Given the description of an element on the screen output the (x, y) to click on. 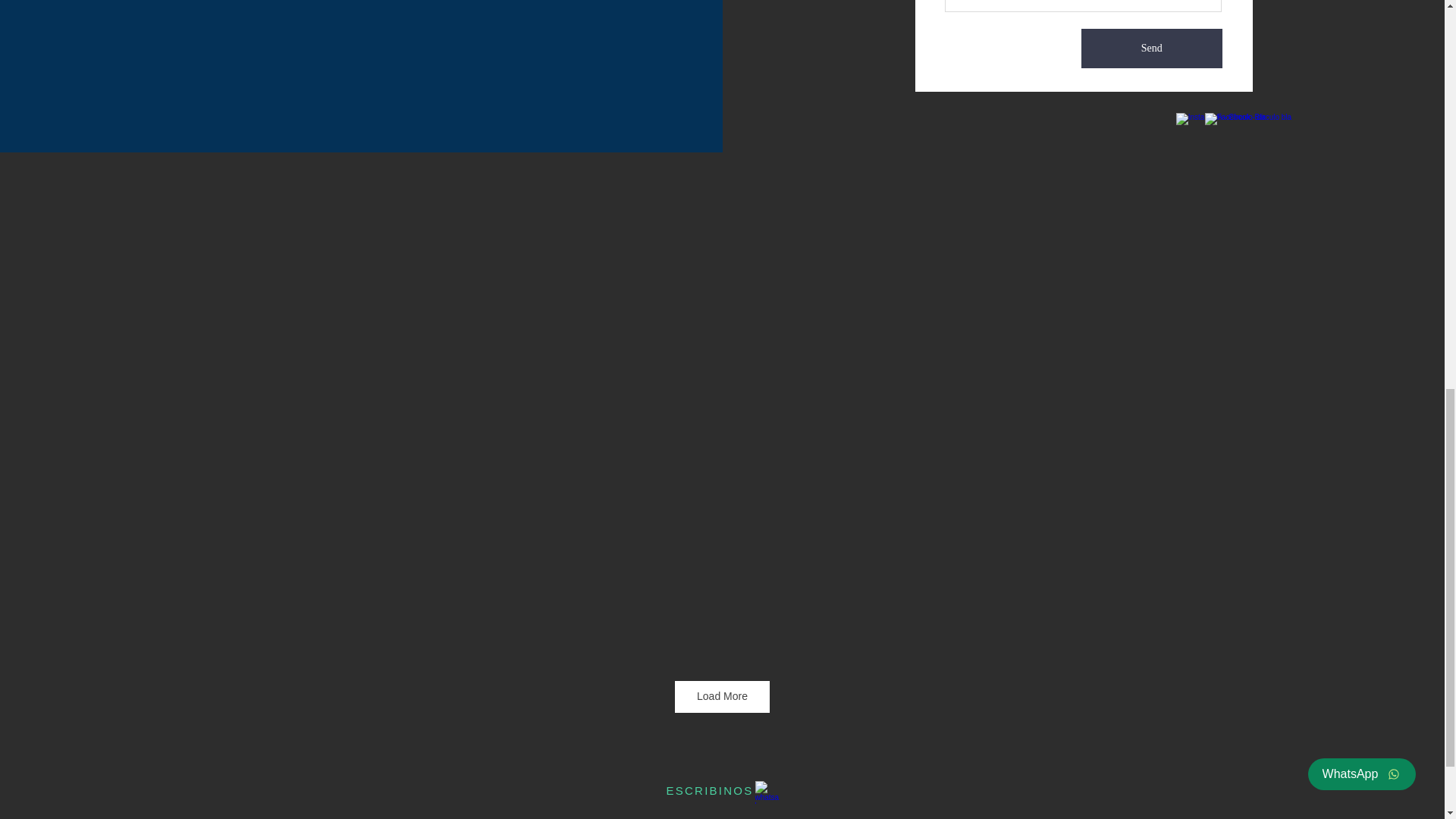
Send (1152, 47)
ESCRIBINOS (708, 789)
Load More (722, 696)
